Given the description of an element on the screen output the (x, y) to click on. 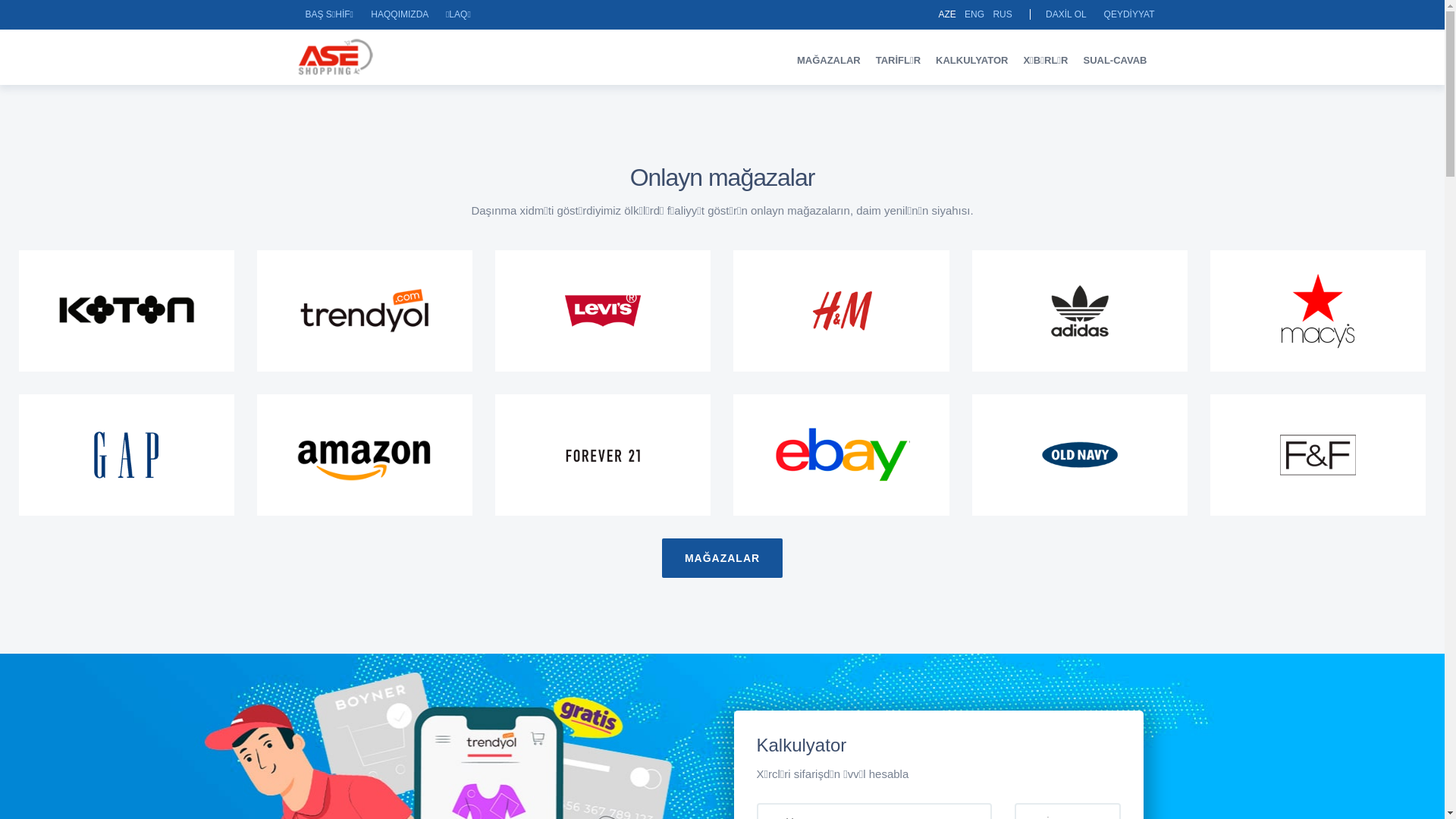
AZE Element type: text (946, 14)
ENG Element type: text (974, 14)
HAQQIMIZDA Element type: text (398, 14)
RUS Element type: text (1001, 14)
KALKULYATOR Element type: text (971, 60)
SUAL-CAVAB Element type: text (1114, 60)
